Given the description of an element on the screen output the (x, y) to click on. 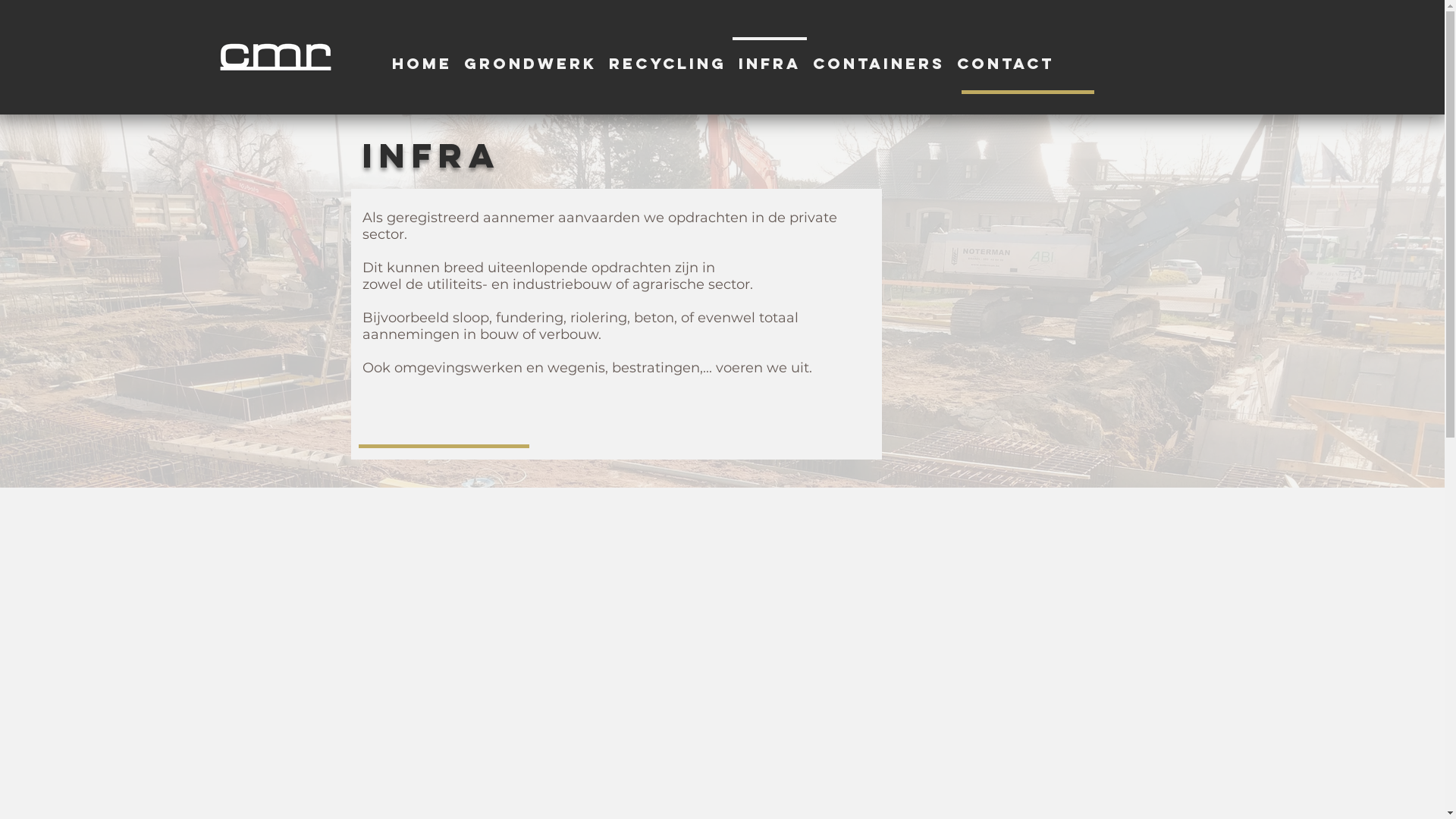
Grondwerk Element type: text (530, 56)
Recycling Element type: text (666, 56)
Contact Element type: text (1005, 56)
Infra Element type: text (769, 56)
HOME Element type: text (421, 56)
Containers Element type: text (878, 56)
